Given the description of an element on the screen output the (x, y) to click on. 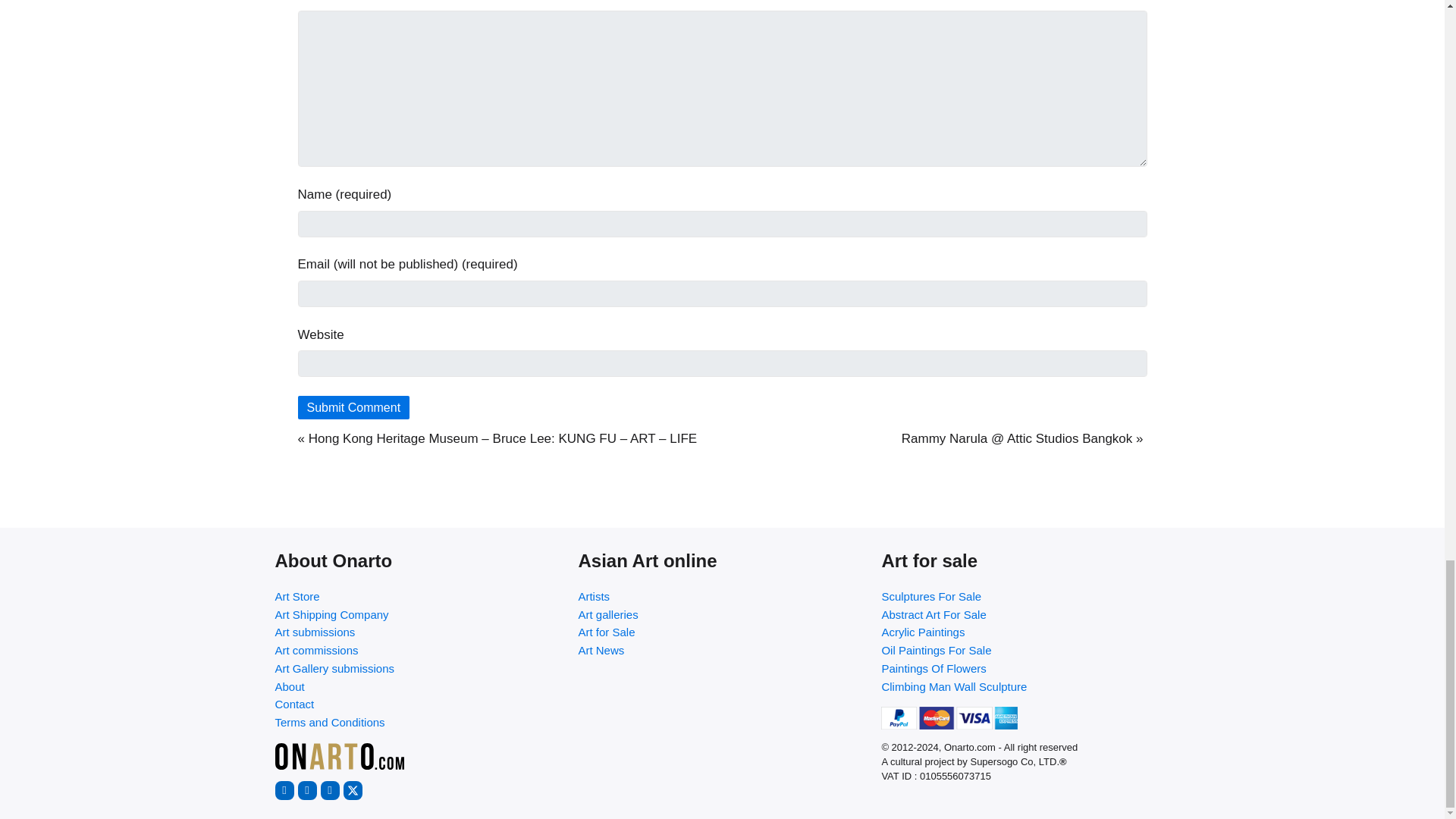
Contact (418, 704)
Art galleries (722, 615)
Submit Comment (353, 407)
Art Gallery submissions (418, 669)
Art submissions (418, 632)
Terms and Conditions (418, 722)
Artists (722, 597)
Instagram (306, 790)
Onarto-Logo-Art-Online-Web-2019- (339, 755)
Art commissions (418, 650)
Art Store (418, 597)
Art Shipping Company (418, 615)
Facebook (284, 790)
About (418, 687)
Submit Comment (353, 407)
